Given the description of an element on the screen output the (x, y) to click on. 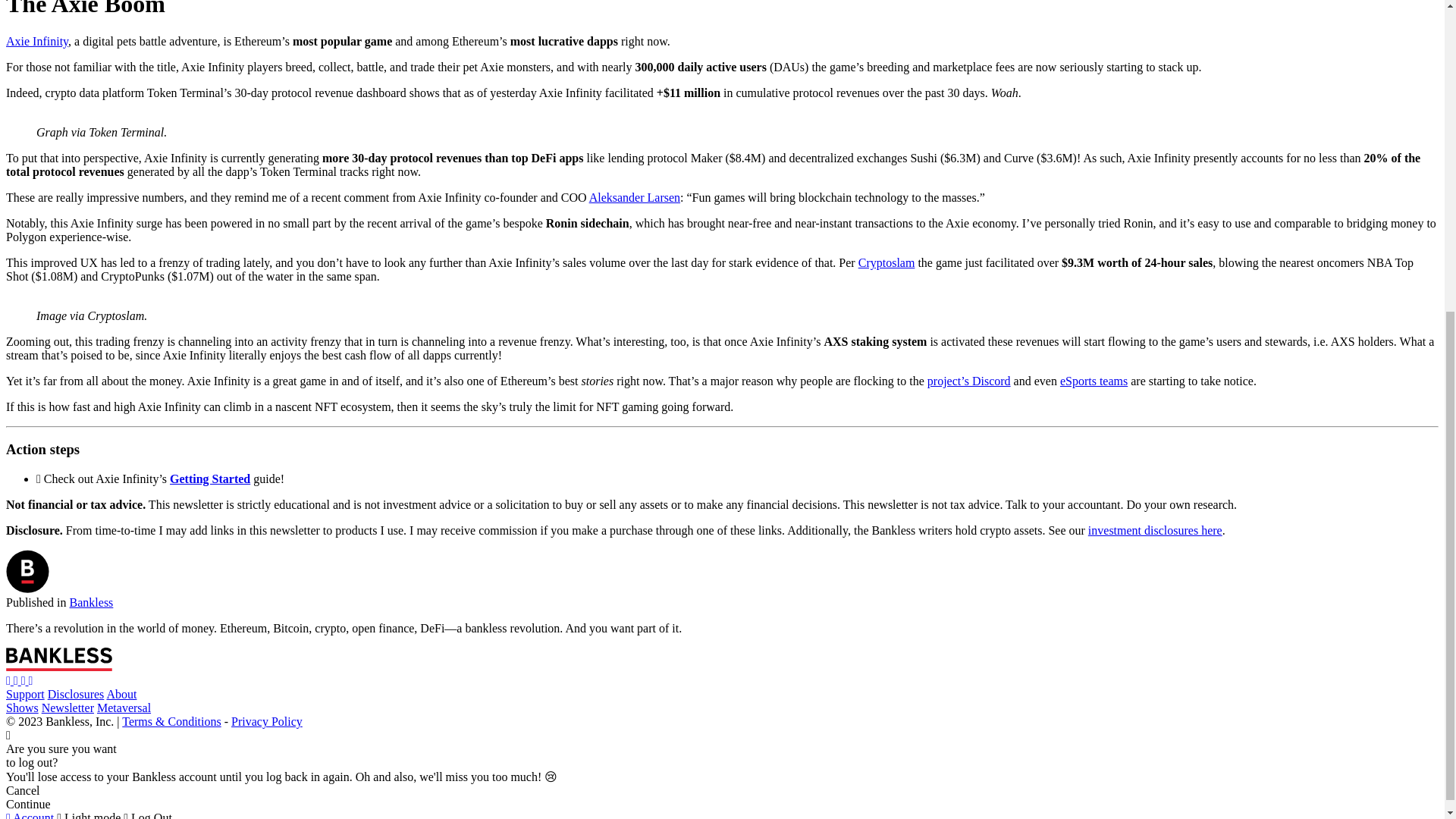
investment disclosures here (1155, 530)
Getting Started (210, 478)
eSports teams (1092, 380)
Axie Infinity (36, 41)
About (121, 694)
Newsletter (68, 707)
Support (25, 694)
Metaversal (124, 707)
Cryptoslam (887, 262)
Shows (22, 707)
